Given the description of an element on the screen output the (x, y) to click on. 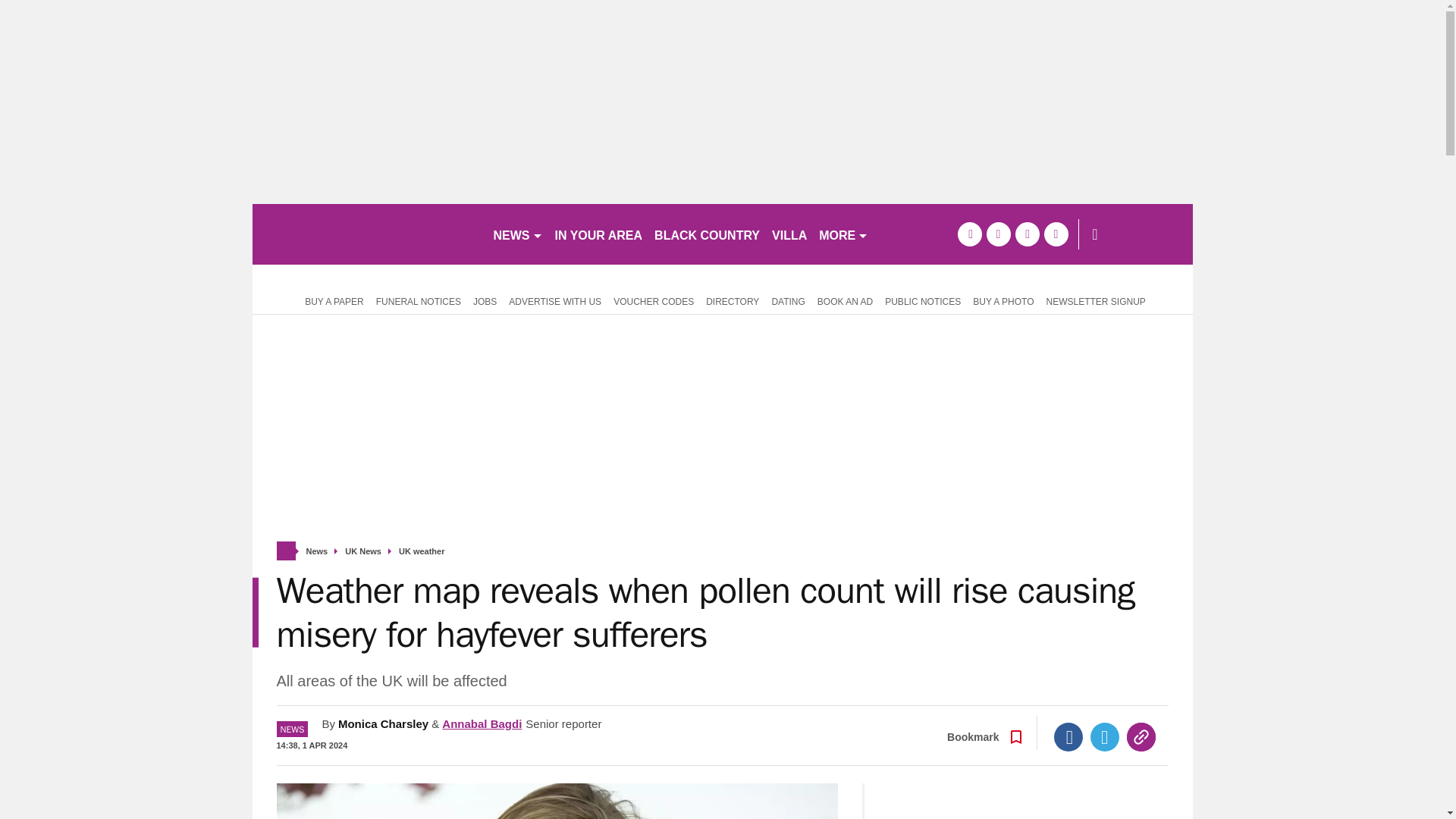
BLACK COUNTRY (706, 233)
NEWS (517, 233)
Twitter (1104, 736)
twitter (997, 233)
birminghammail (365, 233)
IN YOUR AREA (598, 233)
tiktok (1026, 233)
MORE (843, 233)
facebook (968, 233)
Facebook (1068, 736)
instagram (1055, 233)
